Given the description of an element on the screen output the (x, y) to click on. 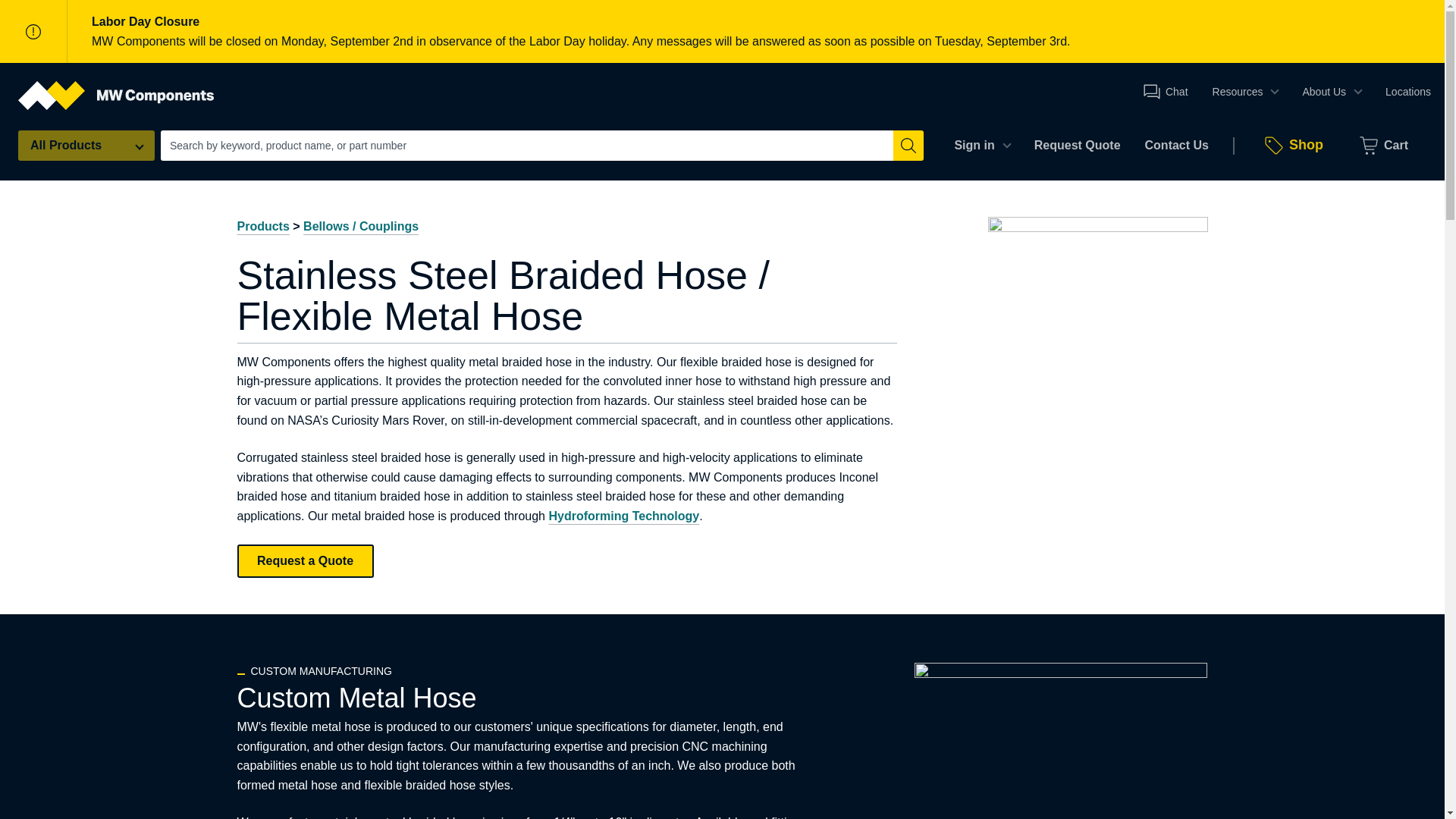
About Us (1331, 91)
Locations (1407, 91)
Resources (1244, 91)
Chat (1165, 91)
All Products (85, 145)
